Given the description of an element on the screen output the (x, y) to click on. 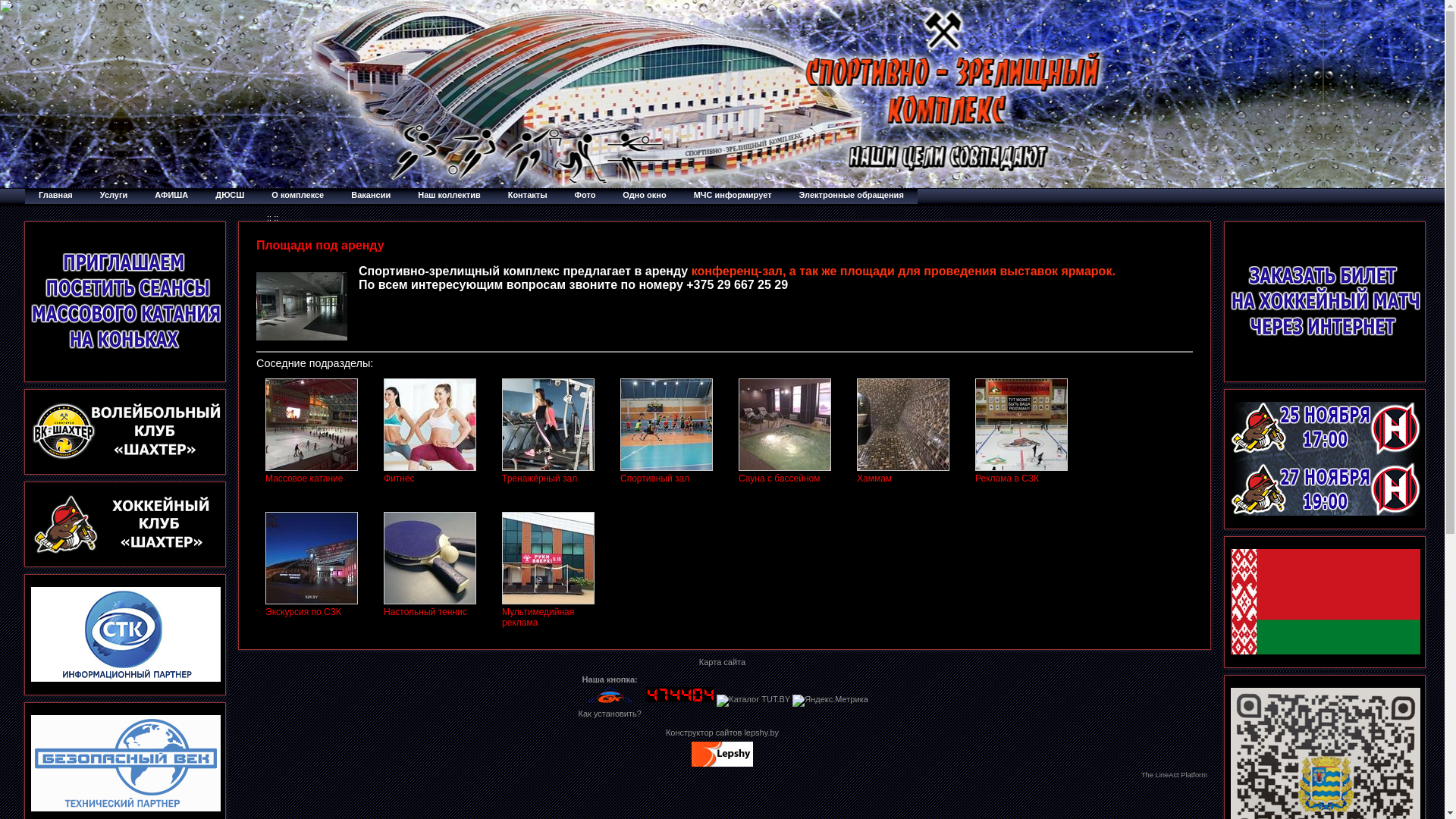
shahter-vc.by Element type: hover (125, 457)
shahter.hockey.by Element type: hover (125, 550)
The LineAct Platform Element type: text (1174, 774)
